Given the description of an element on the screen output the (x, y) to click on. 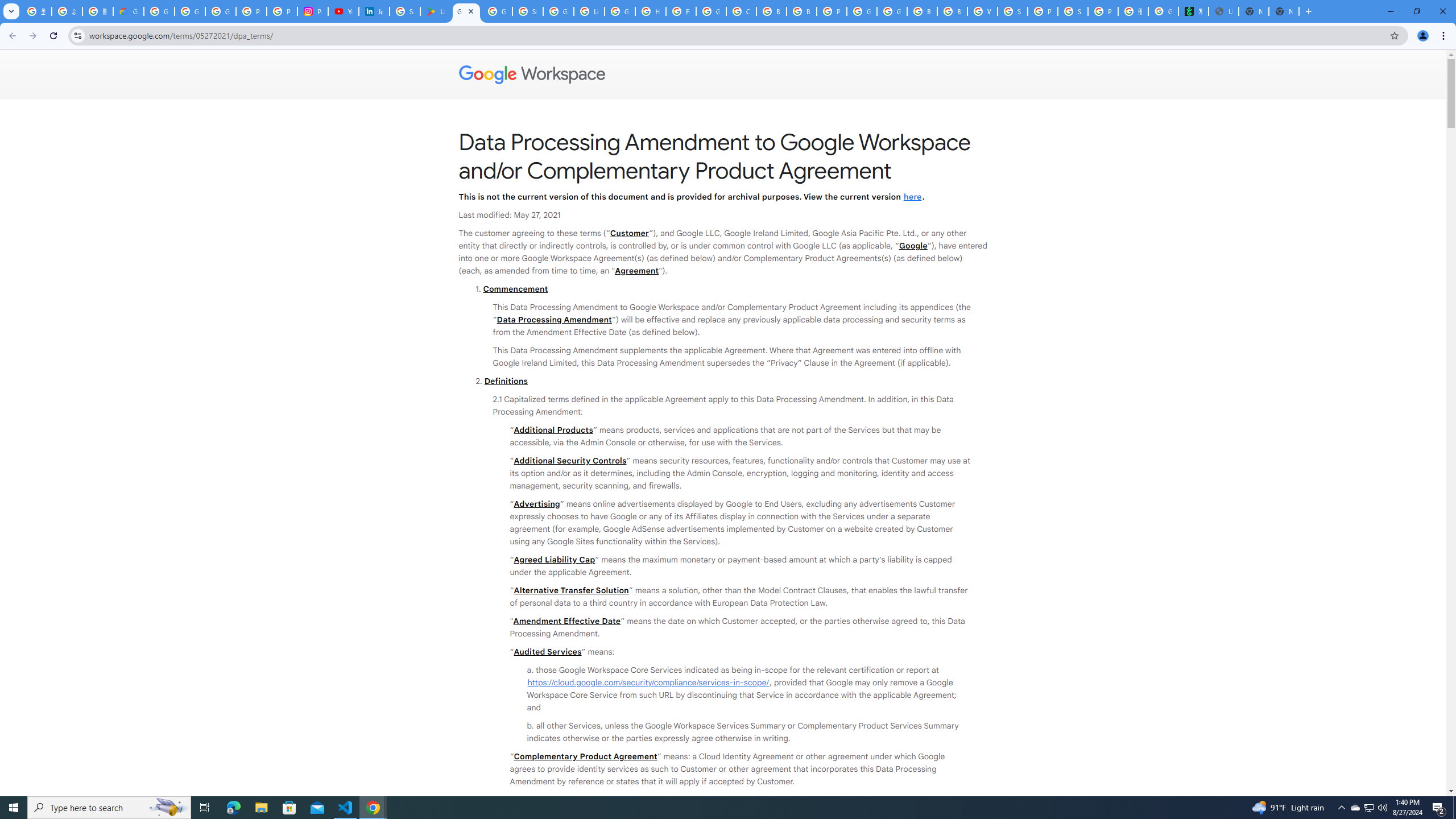
Google Workspace (723, 74)
Untitled (1223, 11)
Google Cloud Platform (892, 11)
How do I create a new Google Account? - Google Account Help (650, 11)
